Given the description of an element on the screen output the (x, y) to click on. 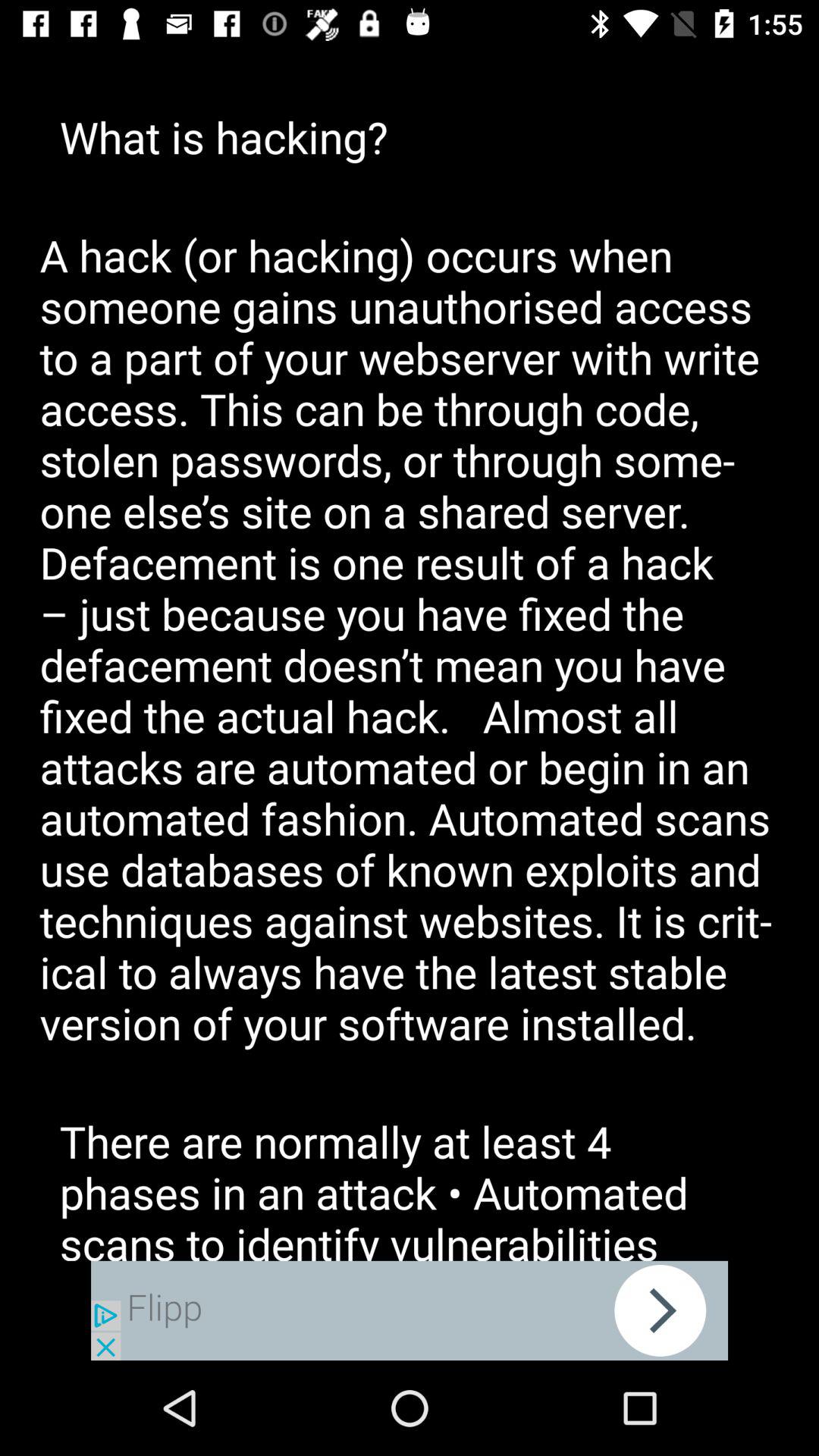
search (409, 1310)
